Given the description of an element on the screen output the (x, y) to click on. 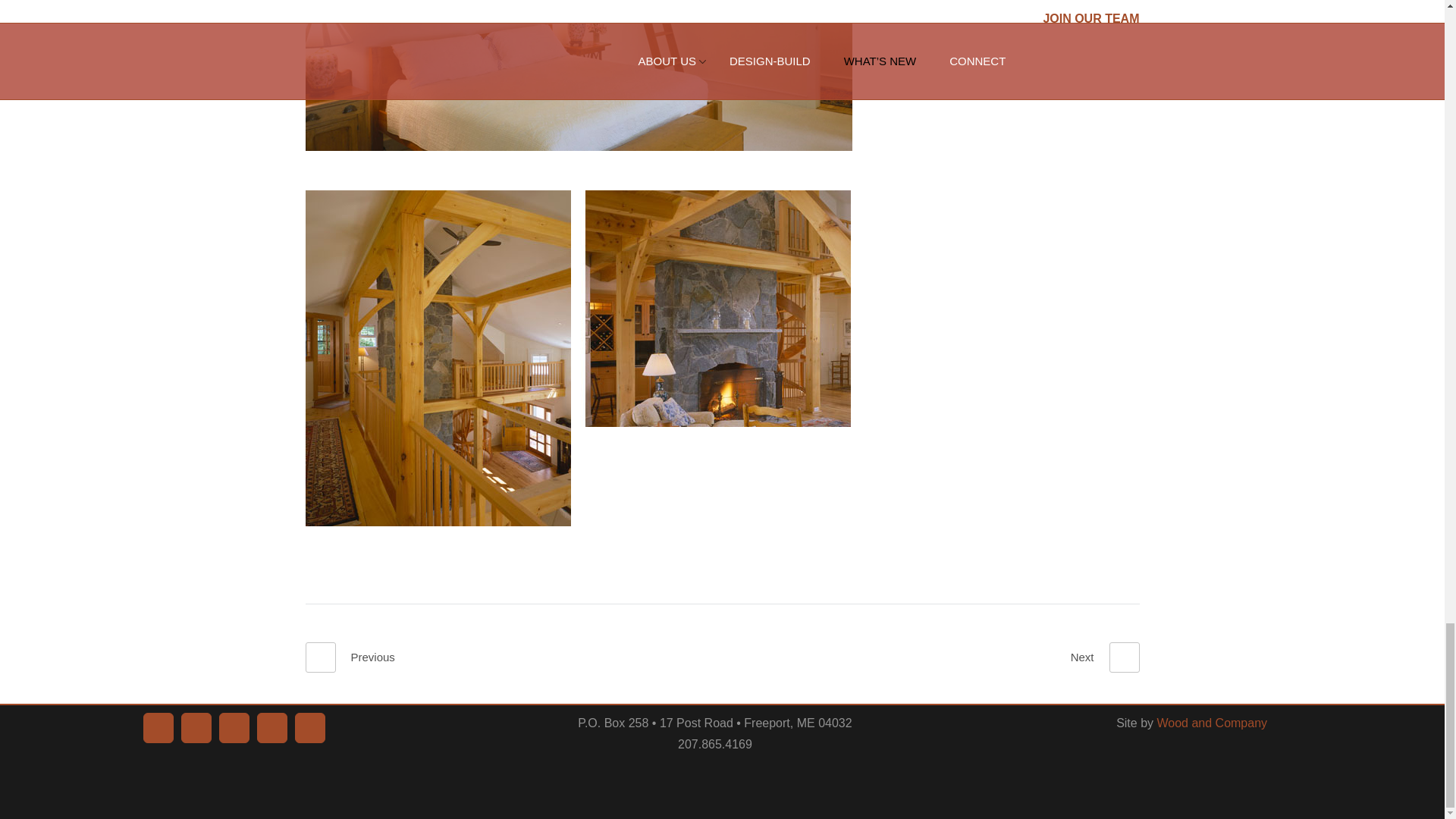
Next (1105, 657)
facebook (157, 727)
Previous (349, 657)
